Given the description of an element on the screen output the (x, y) to click on. 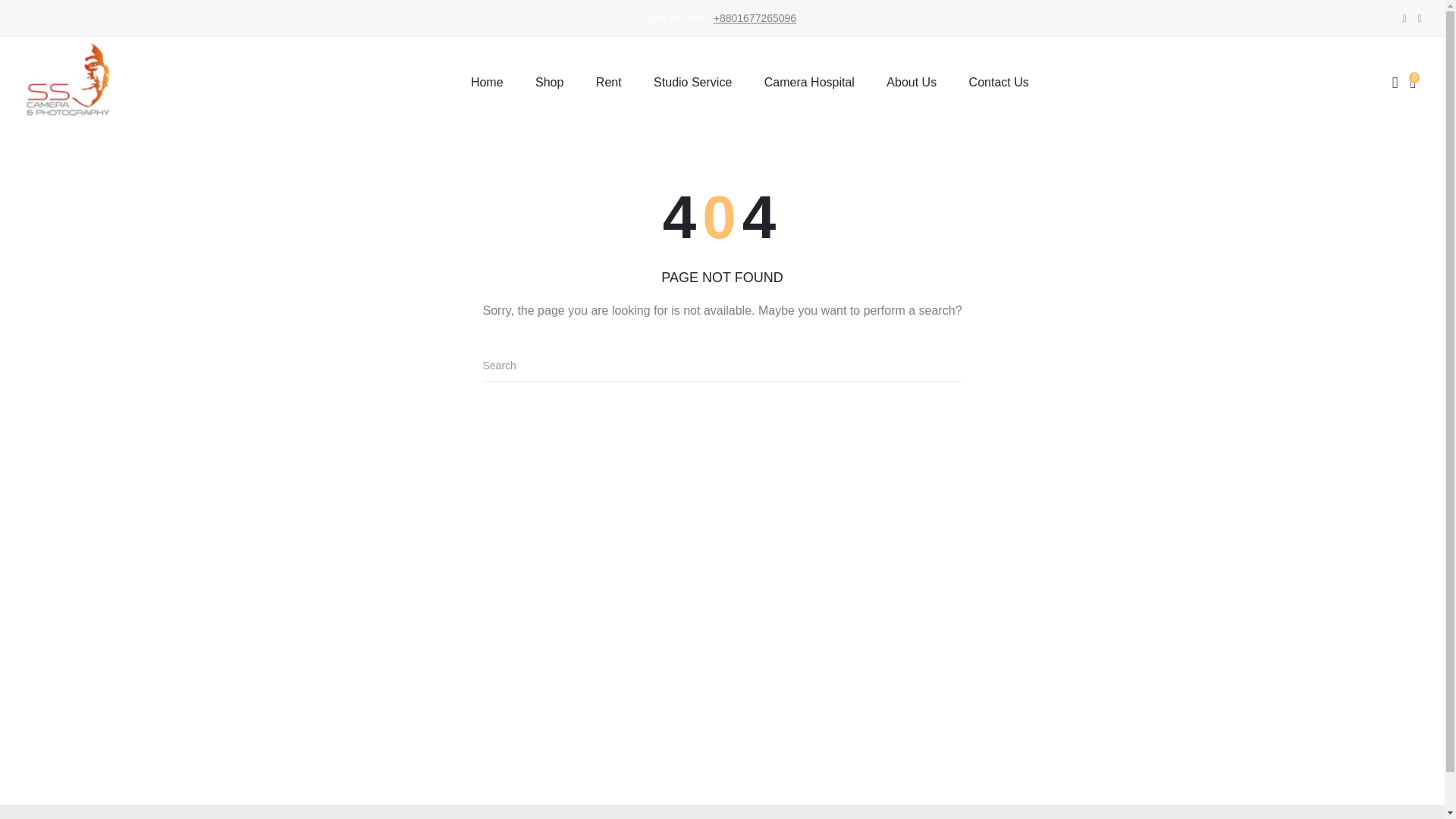
Studio Service (692, 82)
Camera Hospital (809, 82)
